Given the description of an element on the screen output the (x, y) to click on. 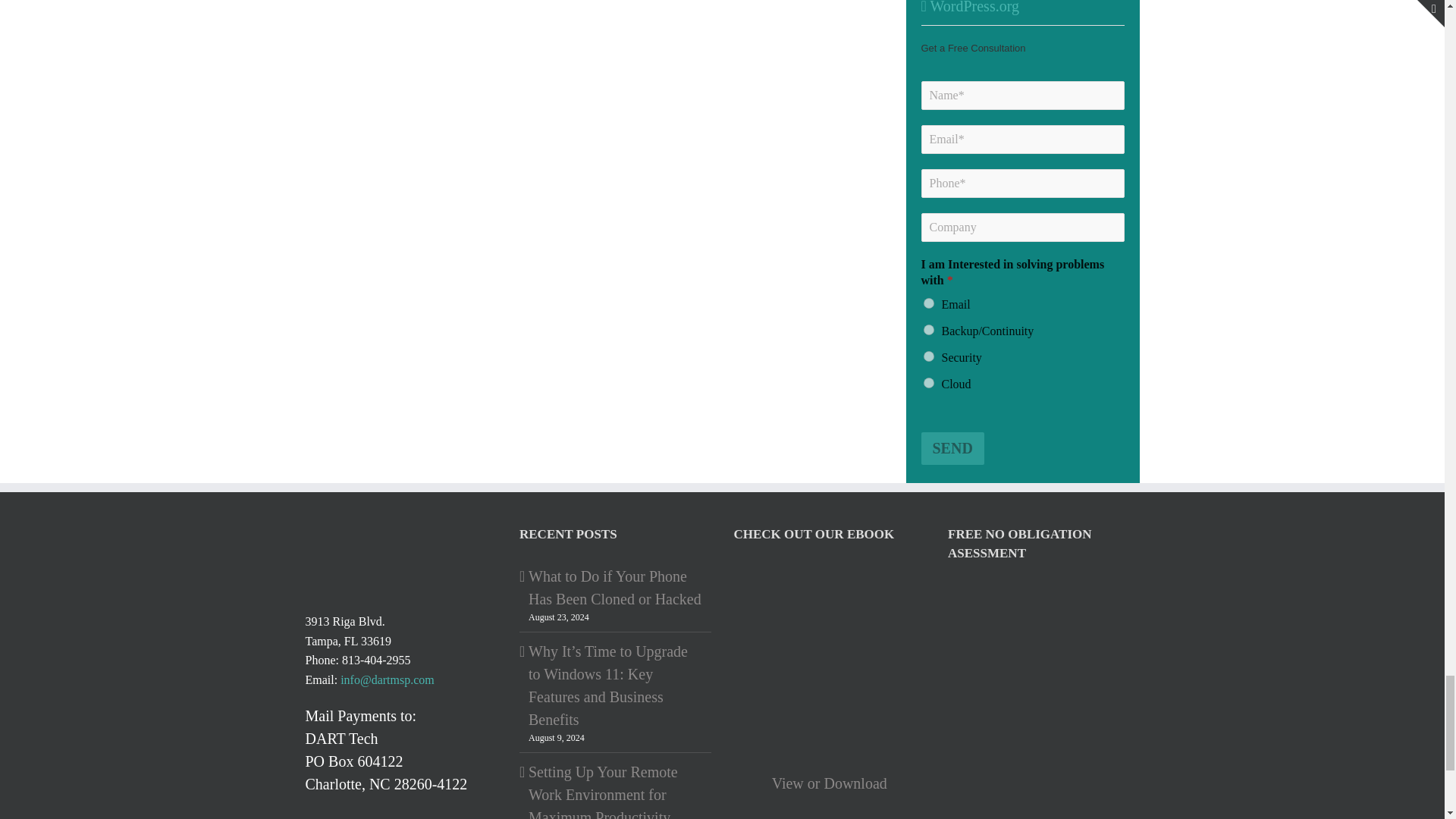
Security (928, 356)
Cloud (928, 382)
Email (928, 303)
